Given the description of an element on the screen output the (x, y) to click on. 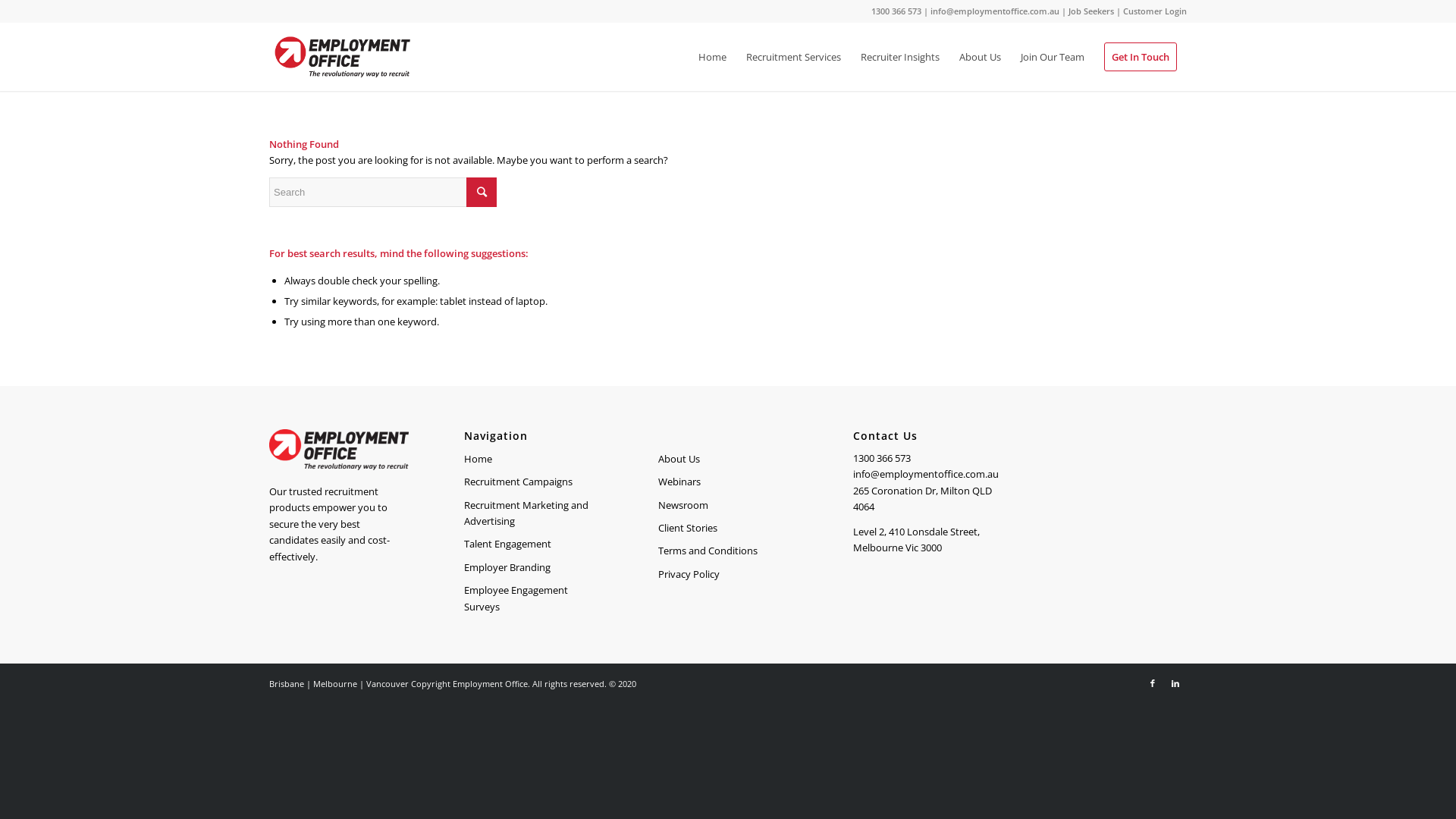
info@employmentoffice.com.au Element type: text (994, 10)
Recruiter Insights Element type: text (899, 56)
Terms and Conditions Element type: text (727, 550)
1300 366 573 Element type: text (896, 10)
About Us Element type: text (979, 56)
Recruitment Marketing and Advertising Element type: text (533, 513)
Home Element type: text (533, 459)
About Us Element type: text (727, 459)
Privacy Policy Element type: text (727, 574)
Webinars Element type: text (727, 481)
Facebook Element type: hover (1152, 682)
Talent Engagement Element type: text (533, 544)
Customer Login Element type: text (1154, 10)
Job Seekers Element type: text (1090, 10)
Employer Branding Element type: text (533, 567)
Join Our Team Element type: text (1052, 56)
LinkedIn Element type: hover (1175, 682)
Home Element type: text (712, 56)
Client Stories Element type: text (727, 528)
Employee Engagement Surveys Element type: text (533, 598)
Get In Touch Element type: text (1140, 56)
Recruitment Services Element type: text (793, 56)
Newsroom Element type: text (727, 505)
Recruitment Campaigns Element type: text (533, 481)
